Given the description of an element on the screen output the (x, y) to click on. 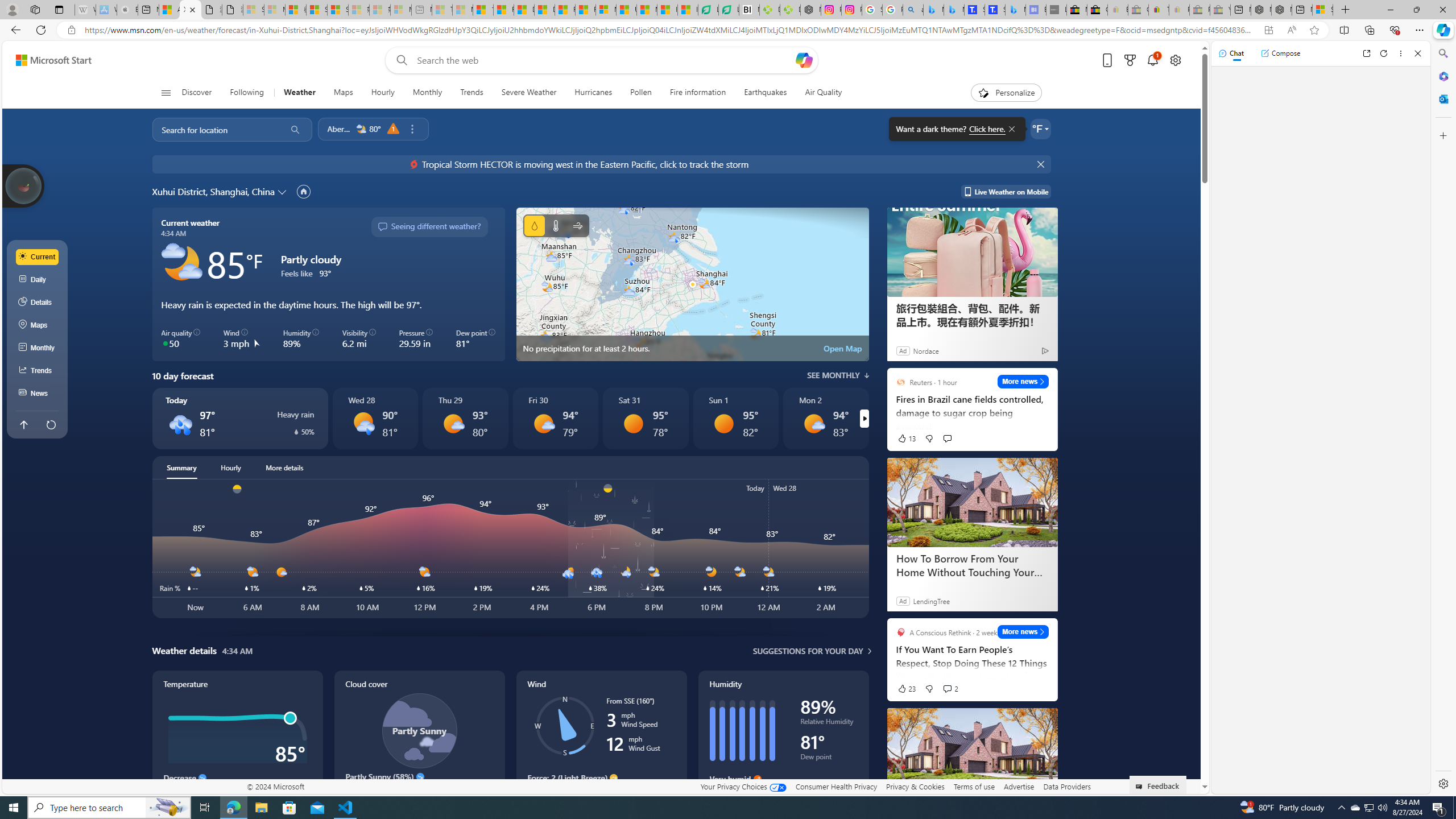
Hide (1041, 164)
Microsoft account | Account Checkup - Sleeping (400, 9)
Safety in Our Products - Google Safety Center (871, 9)
Microsoft Bing Travel - Shangri-La Hotel Bangkok (1015, 9)
See Monthly (837, 375)
Heavy rain (180, 422)
